Given the description of an element on the screen output the (x, y) to click on. 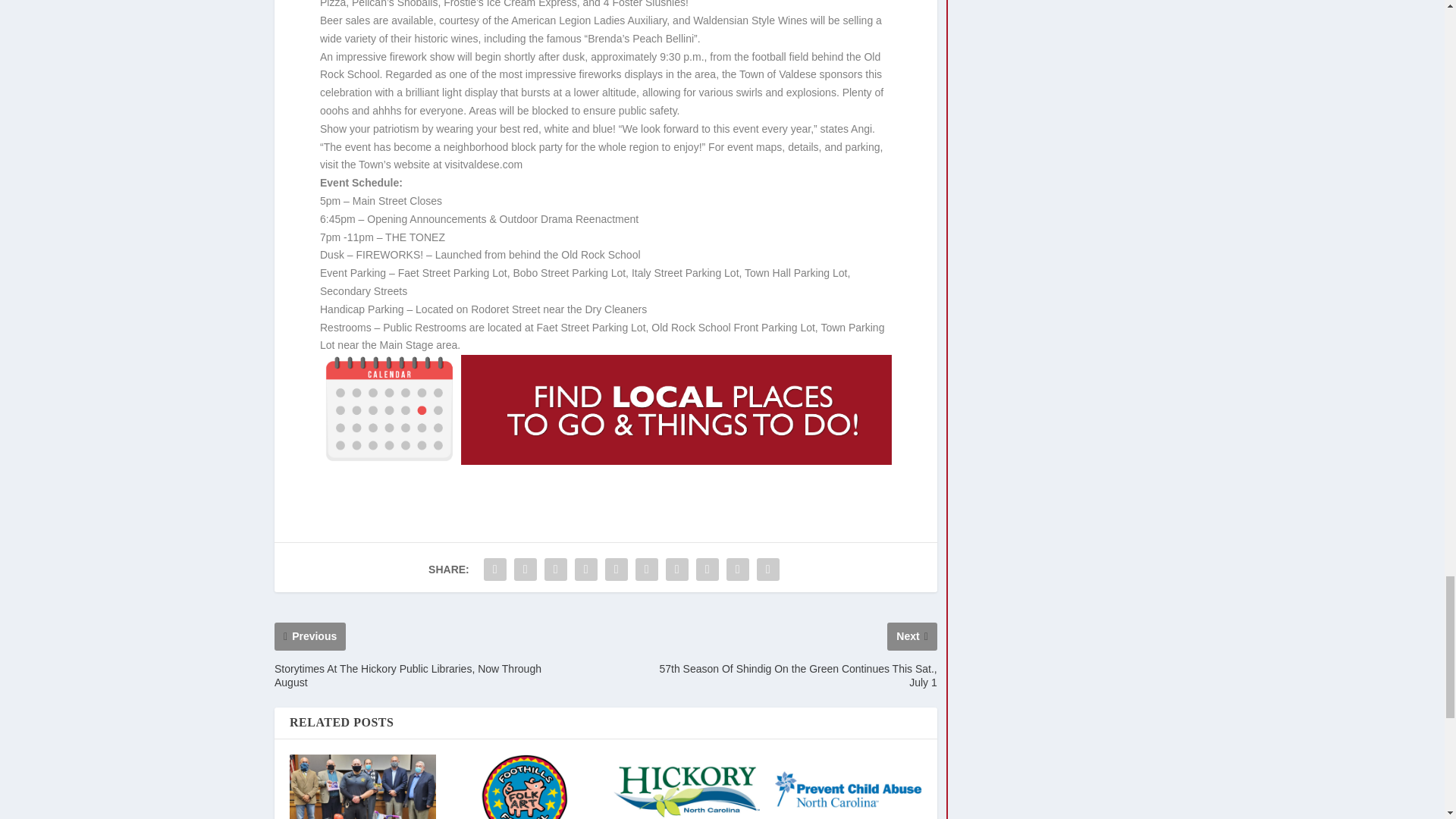
Commissioners Donate And Encourage Public To Donate (362, 786)
Foothills Folk Art Festival Postponed (523, 786)
